Given the description of an element on the screen output the (x, y) to click on. 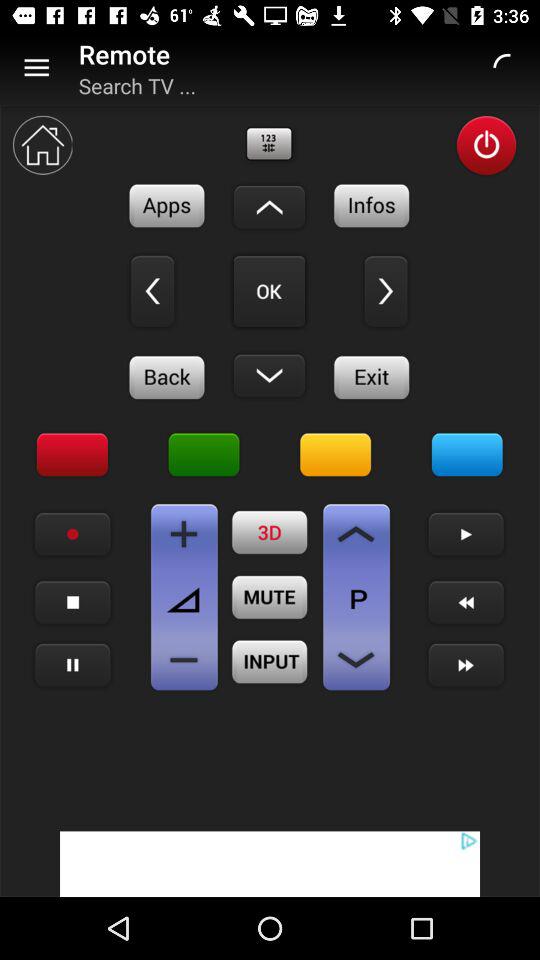
input (269, 661)
